Given the description of an element on the screen output the (x, y) to click on. 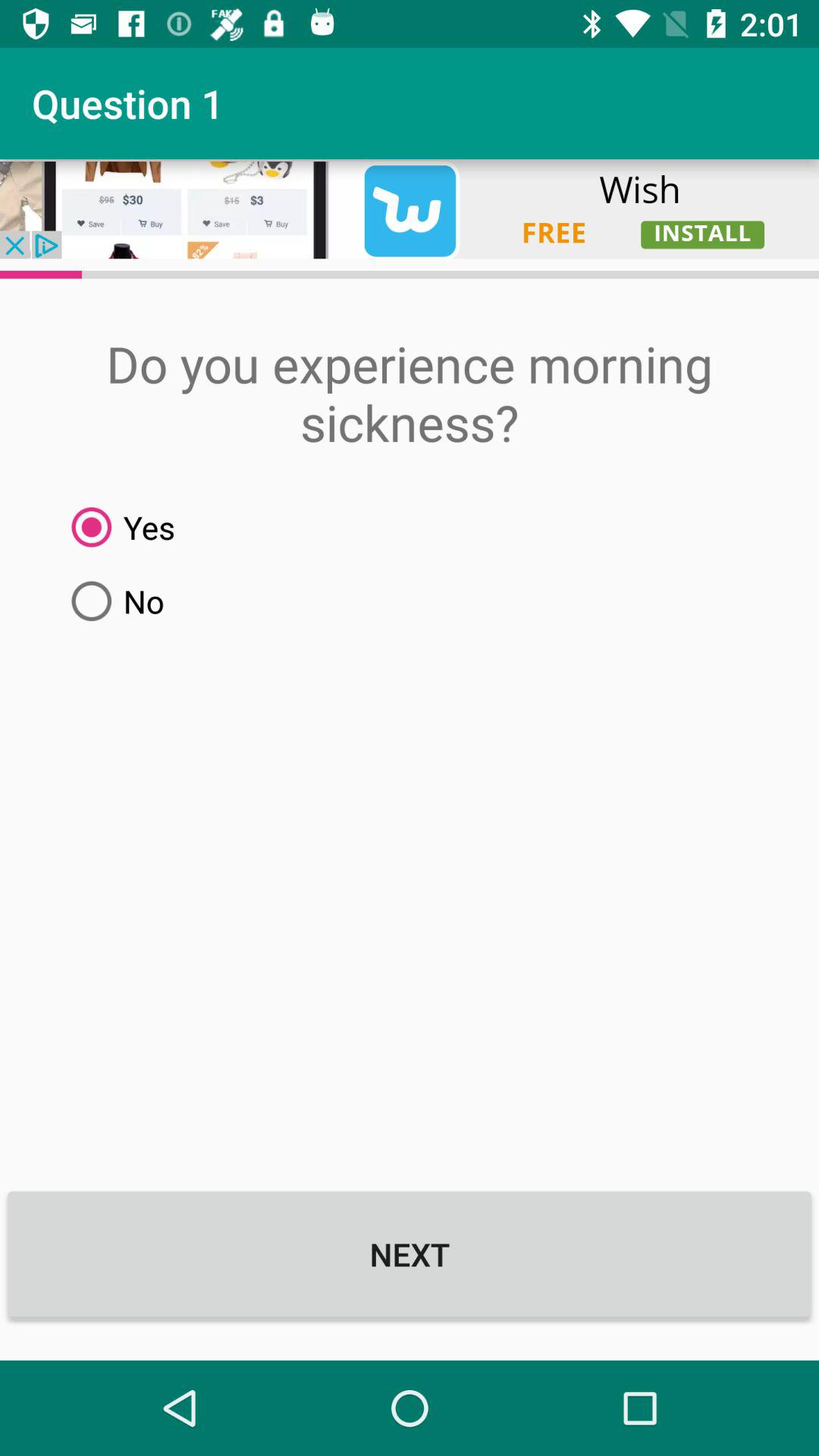
open advertisement (409, 208)
